Given the description of an element on the screen output the (x, y) to click on. 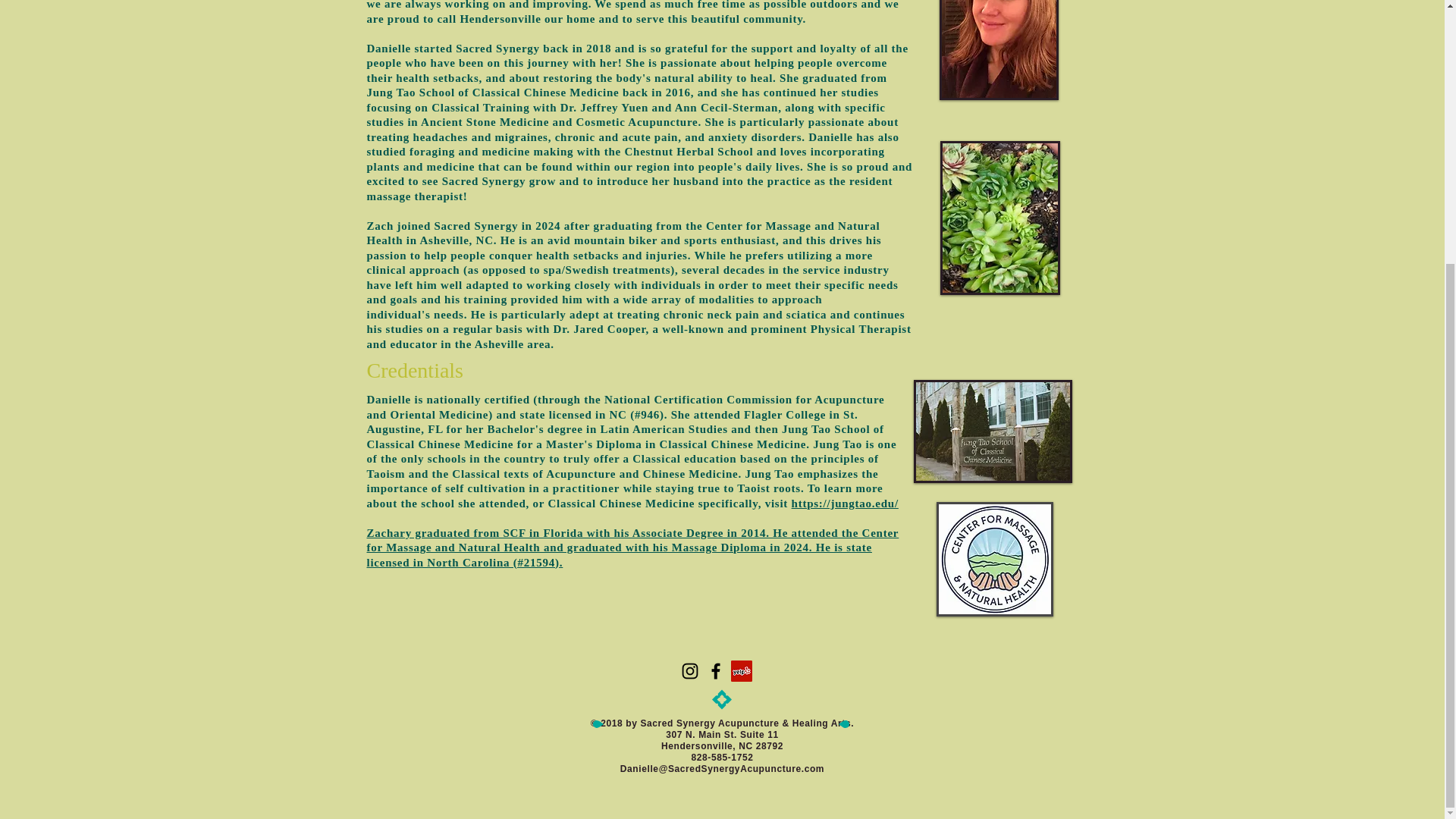
Danielle Corzetto, L.Ac (998, 49)
Jung Tao Acupuncure School (991, 431)
